Given the description of an element on the screen output the (x, y) to click on. 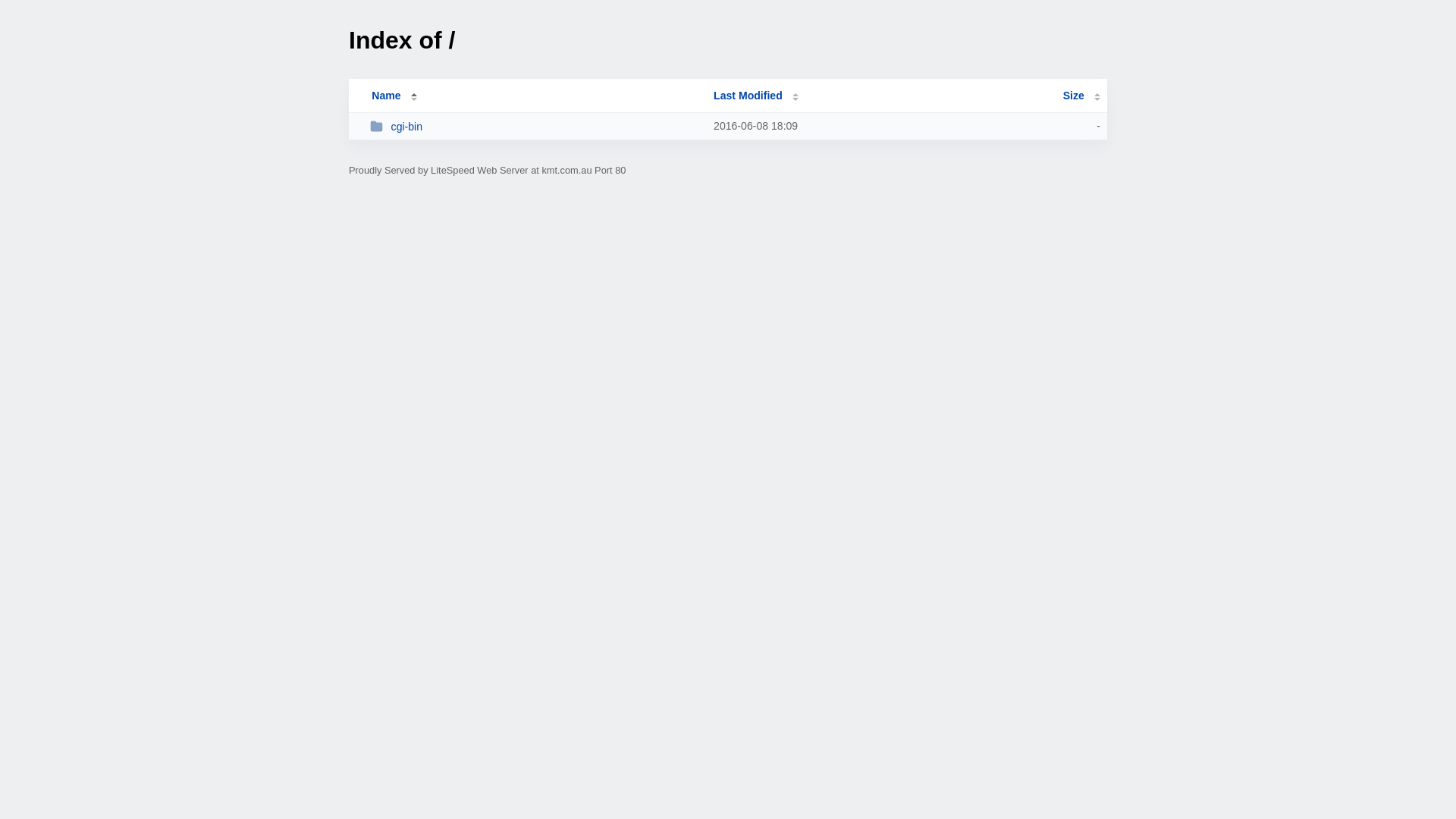
Last Modified Element type: text (755, 95)
Name Element type: text (385, 95)
cgi-bin Element type: text (534, 125)
Size Element type: text (1081, 95)
